Given the description of an element on the screen output the (x, y) to click on. 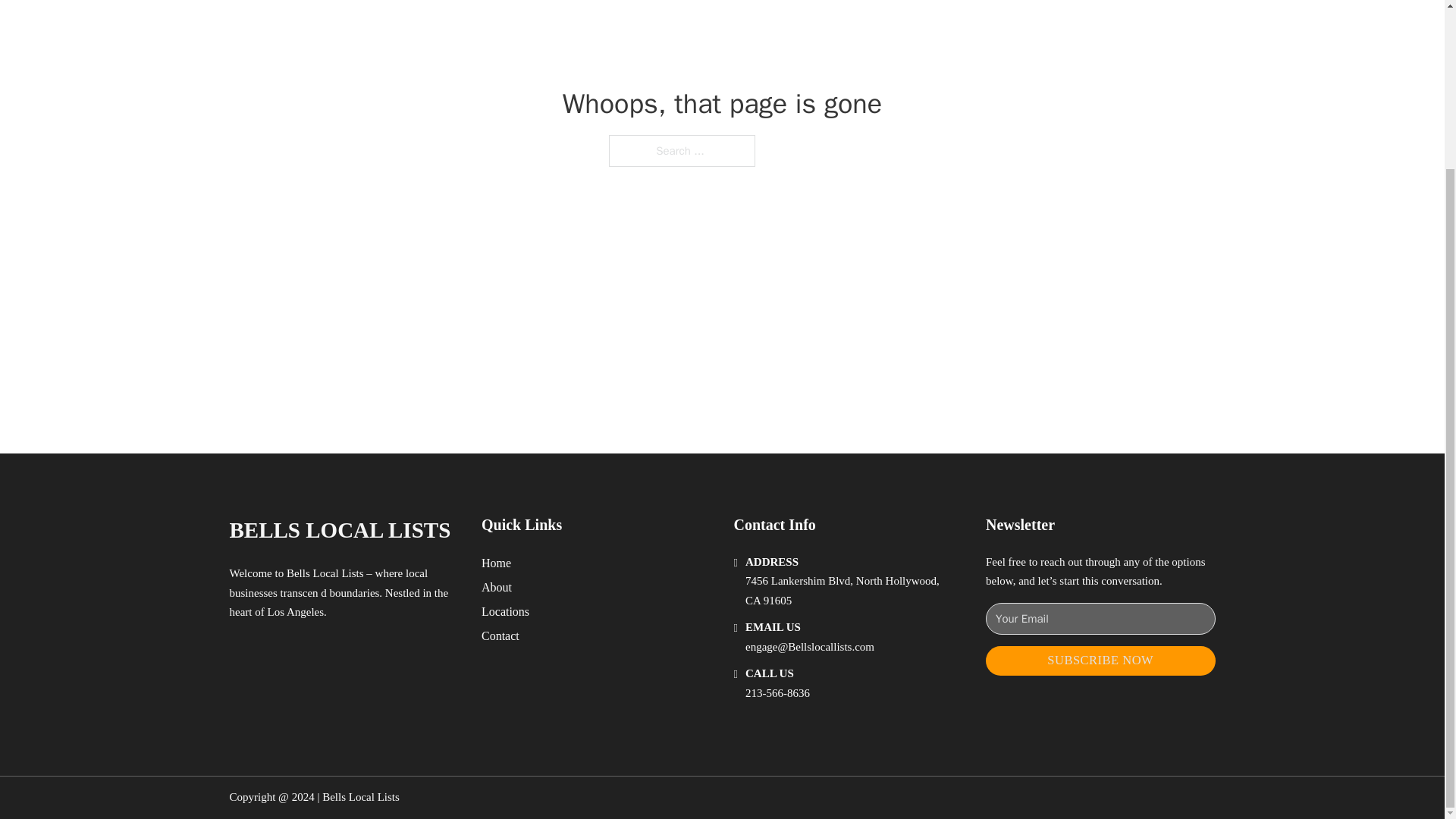
Home (496, 562)
About (496, 587)
213-566-8636 (777, 693)
Locations (505, 611)
BELLS LOCAL LISTS (338, 529)
Contact (500, 635)
SUBSCRIBE NOW (1100, 660)
